Given the description of an element on the screen output the (x, y) to click on. 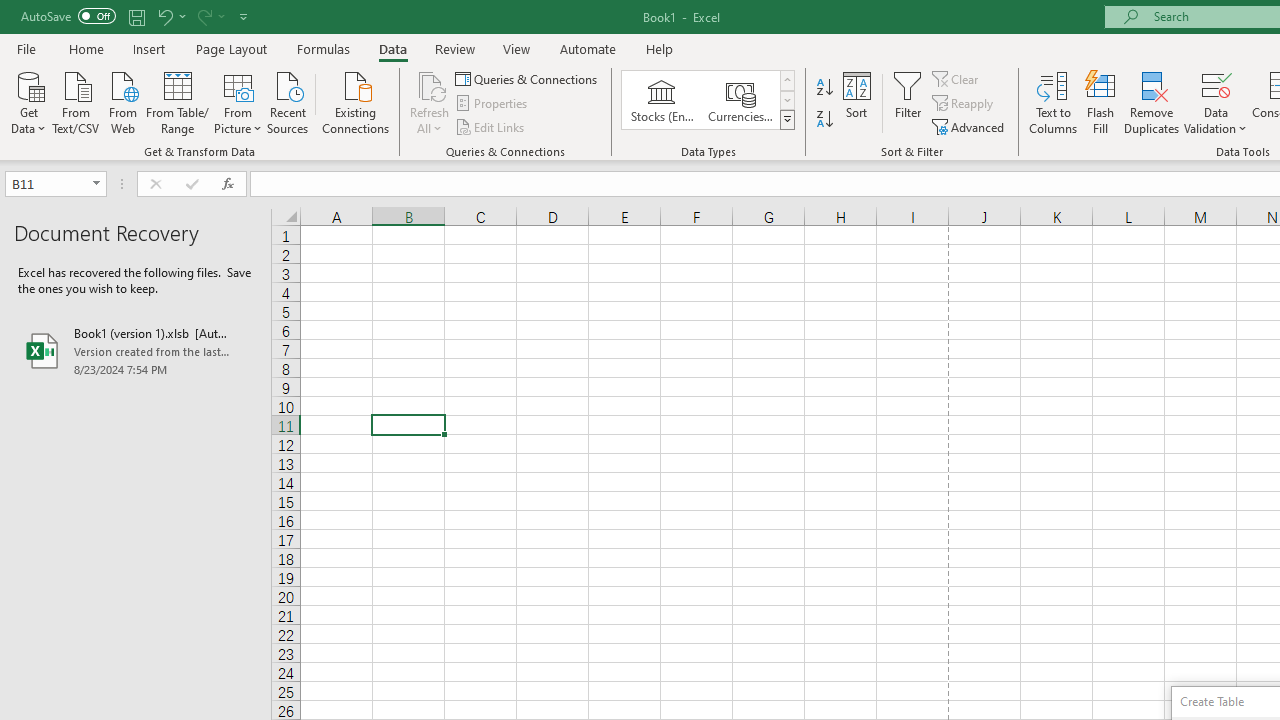
Undo (164, 15)
Flash Fill (1101, 102)
Customize Quick Access Toolbar (244, 15)
View (517, 48)
Existing Connections (355, 101)
From Web (122, 101)
Data Validation... (1215, 102)
Refresh All (429, 102)
Name Box (46, 183)
Page Layout (230, 48)
Clear (957, 78)
Redo (209, 15)
System (10, 11)
Reapply (964, 103)
Help (660, 48)
